Given the description of an element on the screen output the (x, y) to click on. 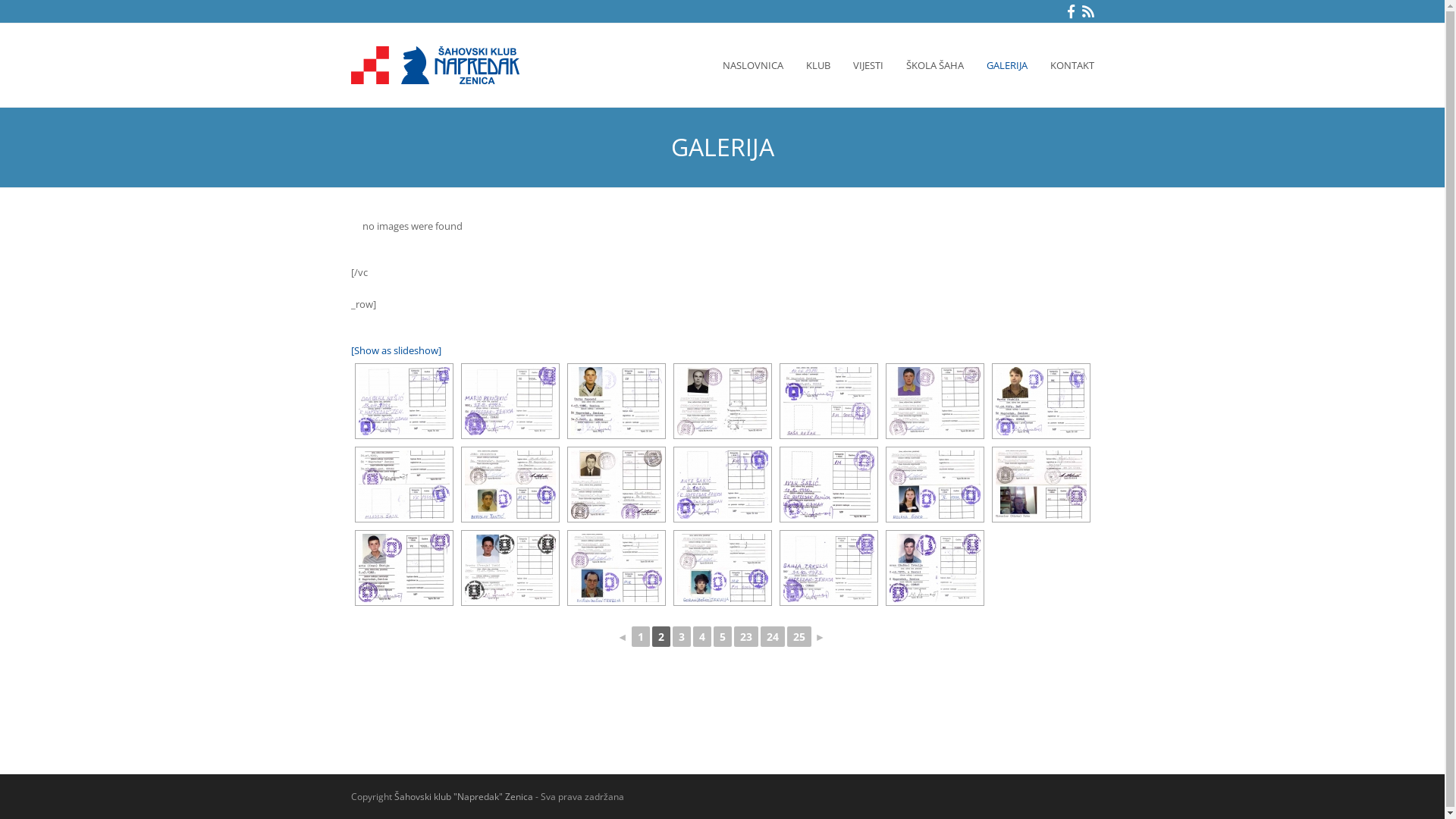
RSS Element type: text (1087, 11)
1-5-2013-82830 Element type: hover (933, 484)
4 Element type: text (702, 636)
1-5-2013-82653 Element type: hover (827, 484)
1-5-2013-81612 Element type: hover (721, 401)
5 Element type: text (721, 636)
1-5-2013-84049 Element type: hover (827, 567)
1-5-2013-82932 Element type: hover (1039, 484)
NASLOVNICA Element type: text (752, 65)
[Show as slideshow] Element type: text (395, 350)
1-5-2013-82331 Element type: hover (509, 484)
KONTAKT Element type: text (1071, 65)
1 Element type: text (639, 636)
3 Element type: text (680, 636)
1-5-2013-81301 Element type: hover (402, 401)
1-5-2013-84155 Element type: hover (933, 567)
1-5-2013-83917 Element type: hover (721, 567)
GALERIJA Element type: text (1006, 65)
25 Element type: text (799, 636)
1-5-2013-83038 Element type: hover (402, 567)
Facebook Element type: text (1070, 11)
KLUB Element type: text (817, 65)
24 Element type: text (771, 636)
1-5-2013-83243 Element type: hover (615, 567)
1-5-2013-81739 Element type: hover (827, 401)
1-5-2013-82444 Element type: hover (615, 484)
VIJESTI Element type: text (867, 65)
23 Element type: text (746, 636)
1-5-2013-83142 Element type: hover (509, 567)
1-5-2013-82554 Element type: hover (721, 484)
1-5-2013-81507 Element type: hover (615, 401)
1-5-2013-82054 Element type: hover (402, 484)
1-5-2013-81842 Element type: hover (933, 401)
1-5-2013-81941 Element type: hover (1039, 401)
1-5-2013-81402 Element type: hover (509, 401)
